Given the description of an element on the screen output the (x, y) to click on. 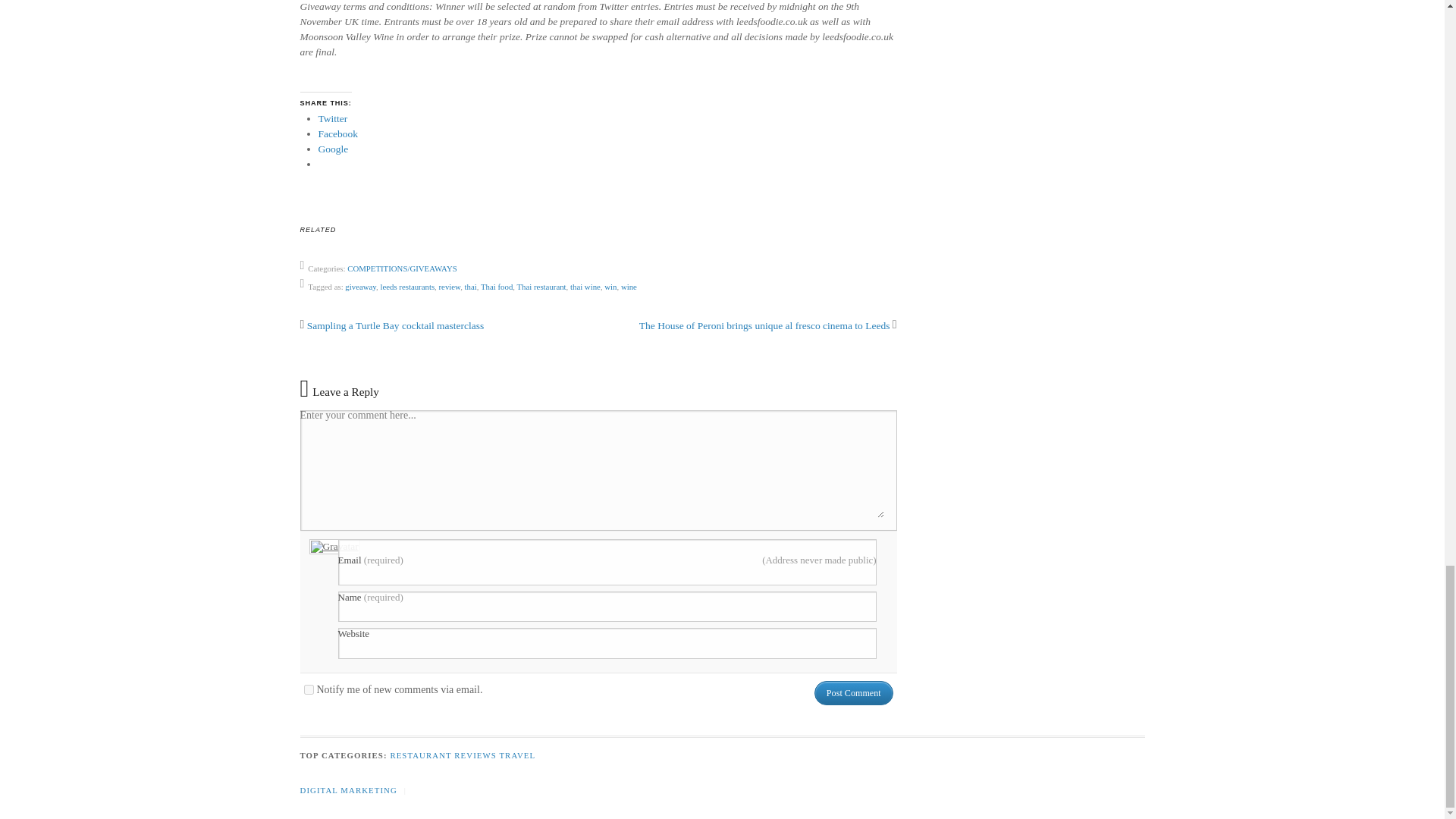
Facebook (338, 133)
Thai food (496, 286)
Thai restaurant (541, 286)
review (449, 286)
giveaway (360, 286)
Google (333, 148)
thai wine (584, 286)
leeds restaurants (406, 286)
thai (470, 286)
Twitter (332, 118)
Post Comment (853, 692)
subscribe (307, 689)
win (609, 286)
